Given the description of an element on the screen output the (x, y) to click on. 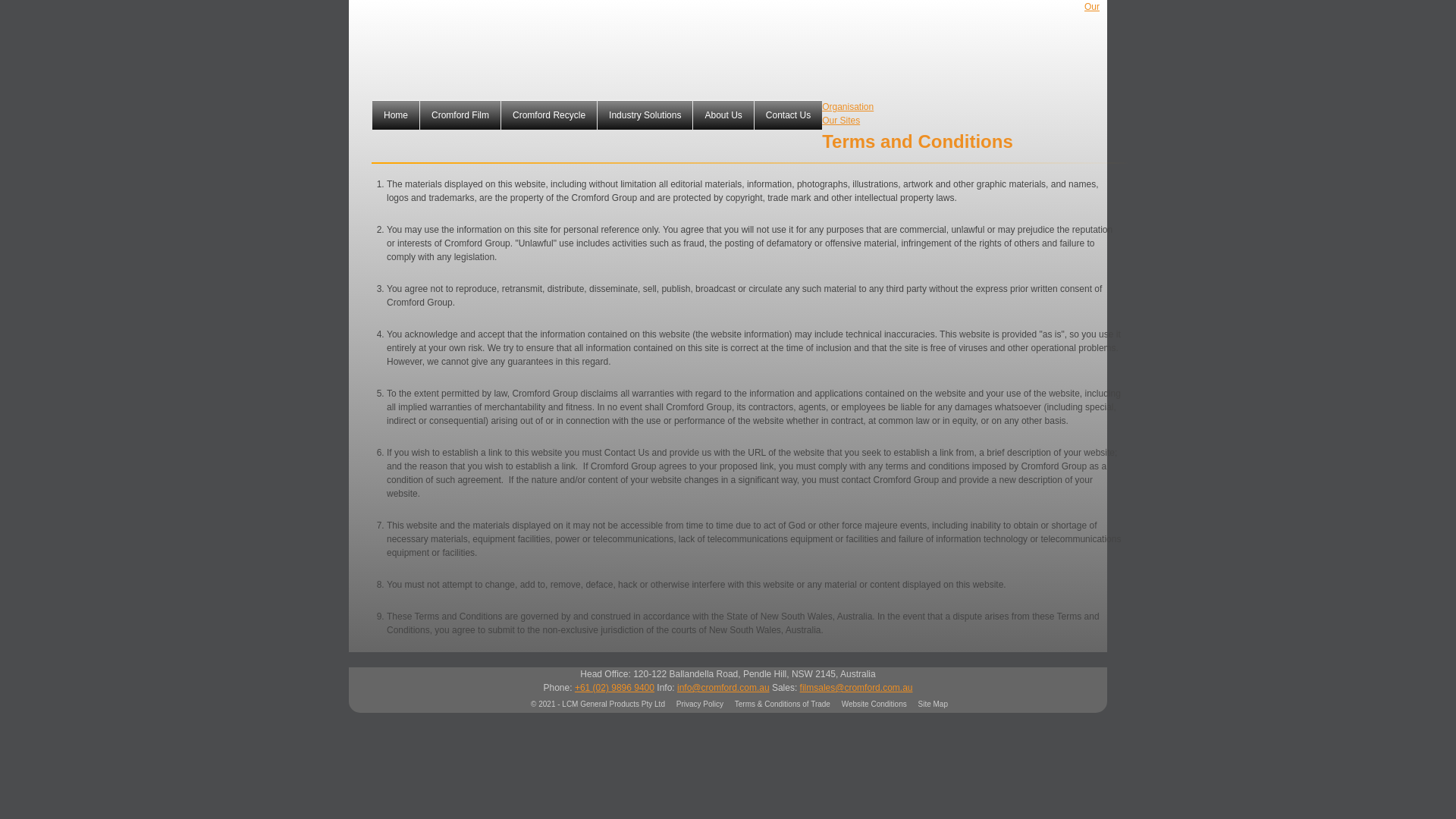
Cromford Film (460, 114)
Cromford Recycle (548, 114)
About Us (722, 114)
Cromford Group Pty Ltd - Home Page (395, 114)
Contact Cromford Group (788, 114)
Cromford Film (460, 114)
Cromford Recycle (548, 114)
Our Organisation (960, 56)
About Us (722, 114)
Industry Solutions (644, 114)
Our Sites (841, 120)
Home (395, 114)
Contact Us (788, 114)
Our Organisation (960, 56)
Website Conditions (874, 704)
